Given the description of an element on the screen output the (x, y) to click on. 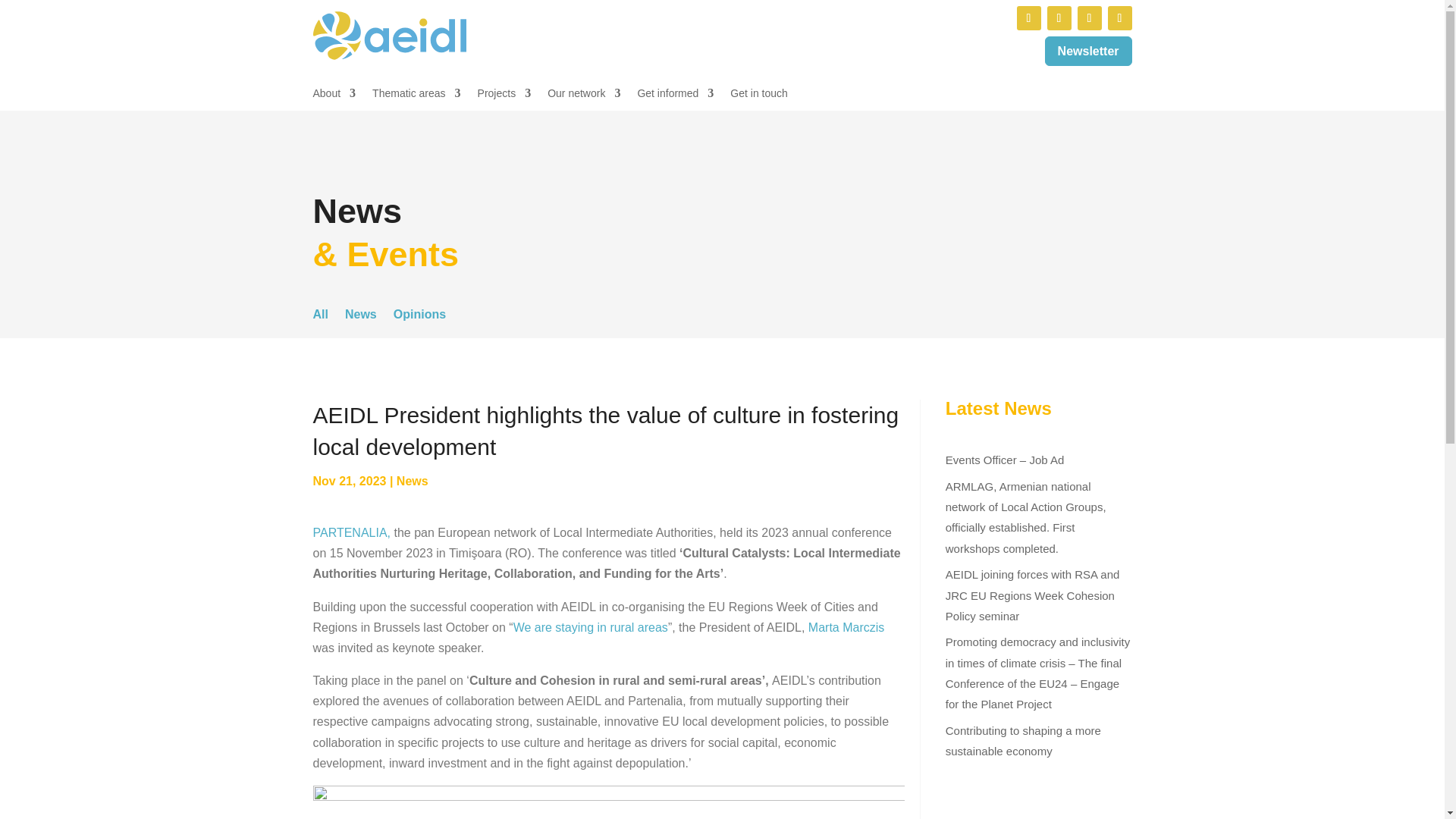
News (412, 481)
Follow on Facebook (1088, 17)
Get informed (675, 95)
Opinions (419, 317)
Our network (583, 95)
News (361, 317)
Follow on LinkedIn (1028, 17)
Get in touch (758, 95)
All (321, 317)
PARTENALIA, (351, 532)
We are staying in rural areas (590, 626)
Thematic areas (416, 95)
Follow on Flickr (1118, 17)
Follow on X (1058, 17)
Newsletter (1088, 51)
